Given the description of an element on the screen output the (x, y) to click on. 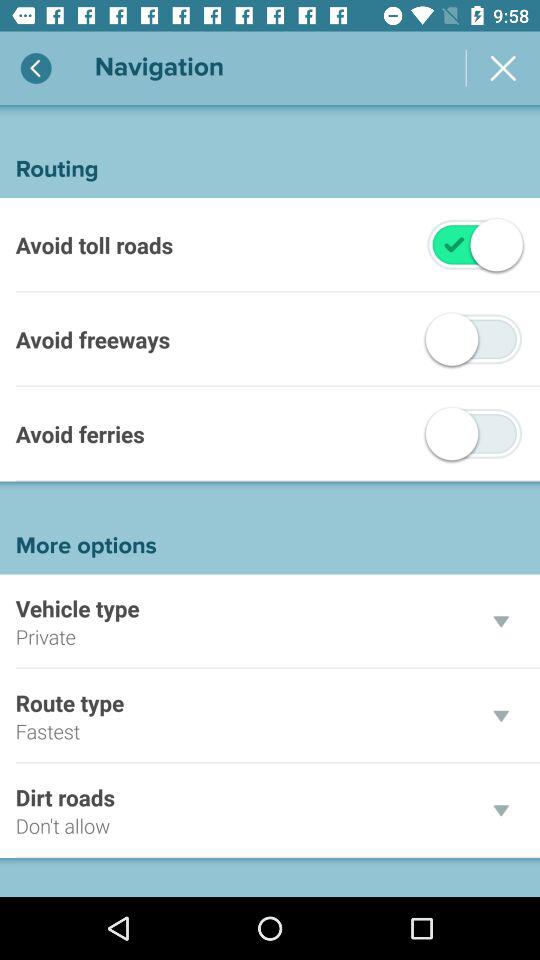
select the first toggle button (454, 245)
select the first toggle button (473, 244)
select the drop down for dirt roads (500, 809)
select the drop down for vehicle type (500, 621)
select the button next to the text avoid ferries (473, 433)
select the button next to the text aviod toll roads (454, 245)
click on the button which is next to avoid freeways (473, 338)
tap the off button which is to the right of avoid freeways (451, 339)
select the cancel icon (503, 68)
